Given the description of an element on the screen output the (x, y) to click on. 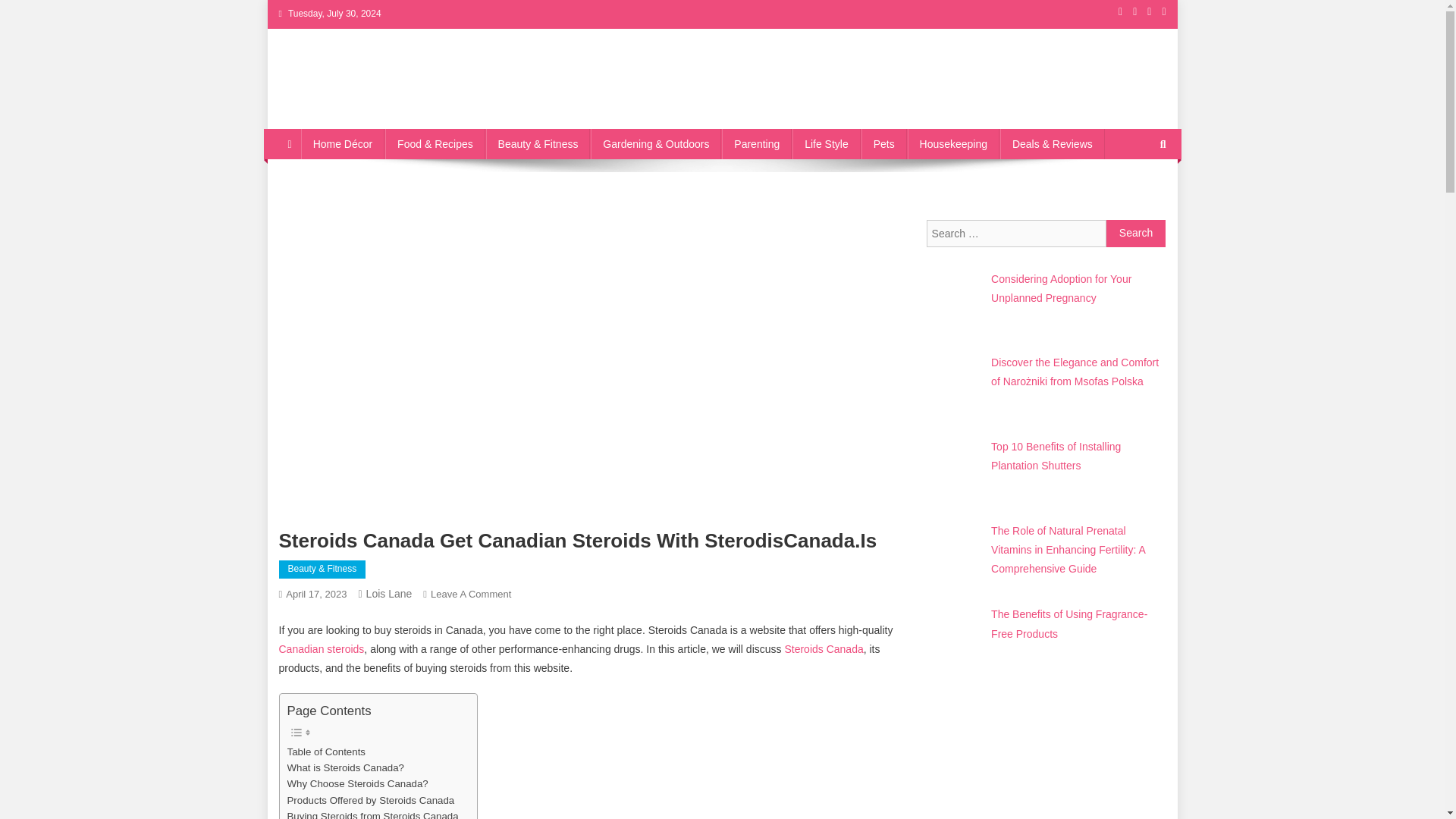
Parenting (757, 143)
Search (1136, 233)
Why Choose Steroids Canada? (357, 783)
Life Style (826, 143)
Buying Steroids from Steroids Canada (372, 813)
Products Offered by Steroids Canada (370, 800)
Table of Contents (325, 751)
Why Choose Steroids Canada? (357, 783)
April 17, 2023 (315, 593)
Buying Steroids from Steroids Canada (372, 813)
Search (1136, 233)
Canadian steroids (322, 648)
Pets (884, 143)
Lois Lane (389, 593)
